Given the description of an element on the screen output the (x, y) to click on. 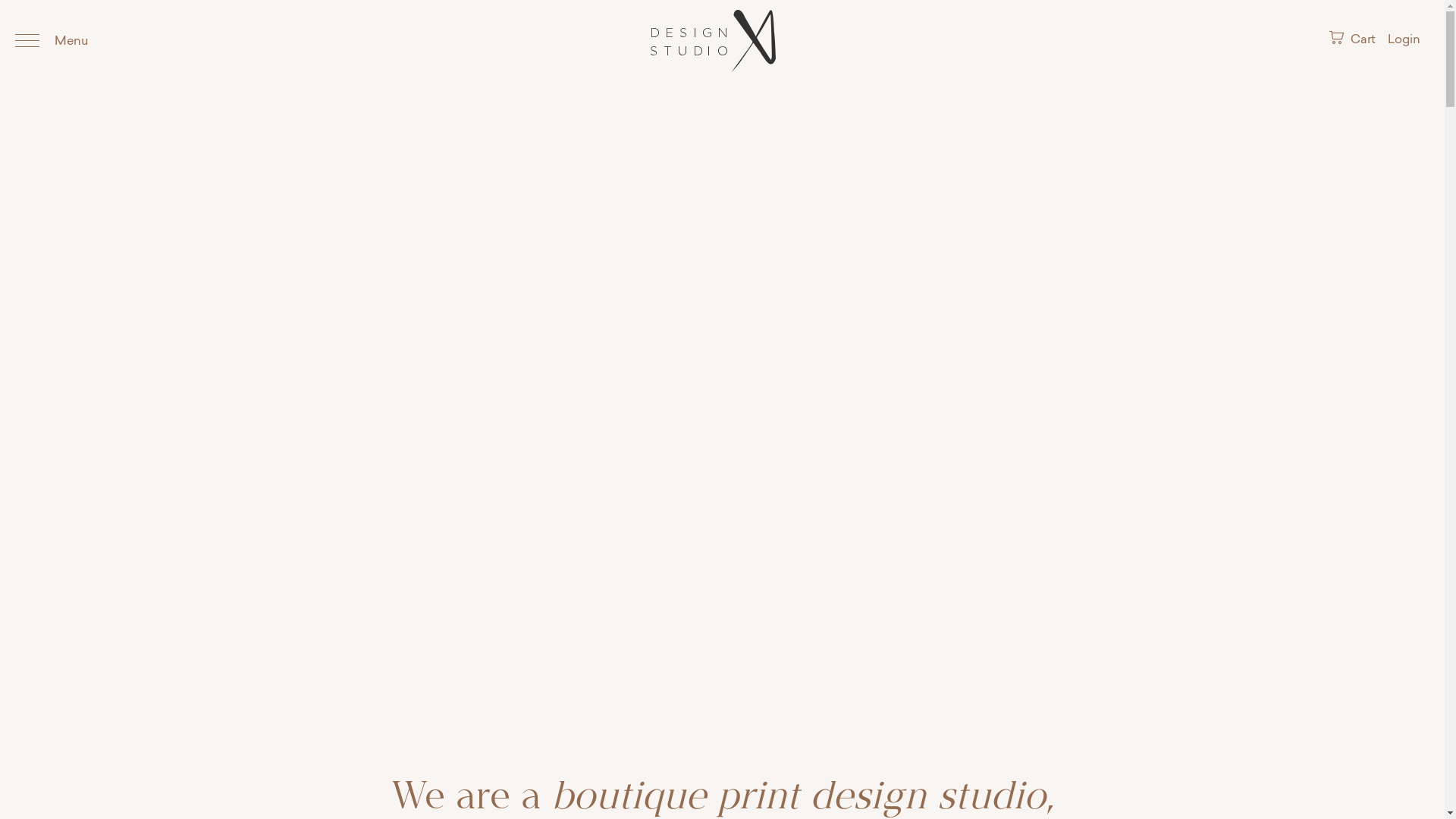
Cart Element type: text (1353, 40)
Login Element type: text (1403, 40)
